Given the description of an element on the screen output the (x, y) to click on. 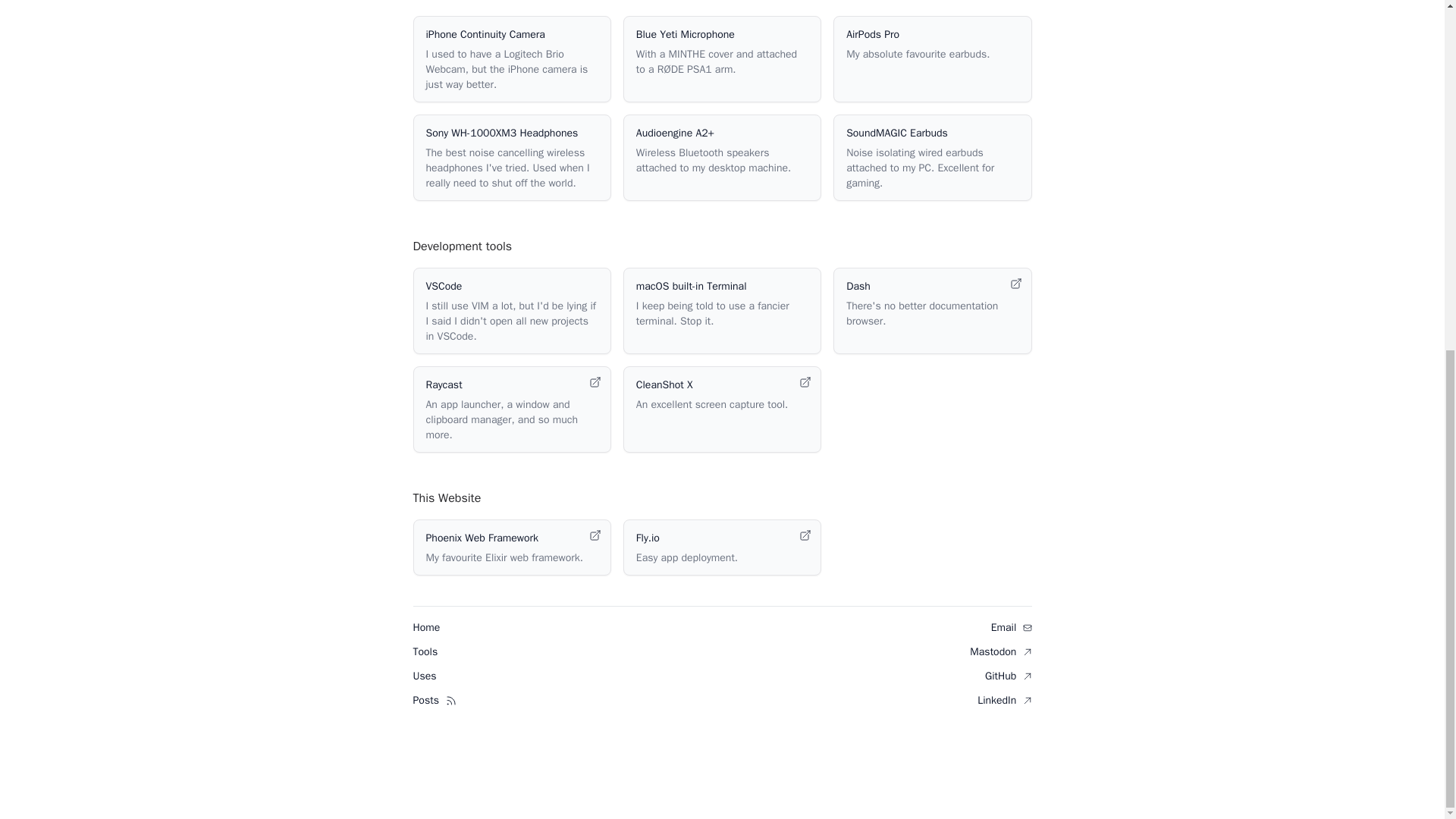
GitHub (1008, 675)
Visit Fly.io website (722, 547)
Visit Phoenix Web Framework website (511, 547)
Tools (425, 651)
This Website (446, 498)
Development tools (462, 246)
Visit Dash website (932, 310)
Posts (425, 699)
Visit CleanShot X website (722, 409)
Email (1011, 626)
